Given the description of an element on the screen output the (x, y) to click on. 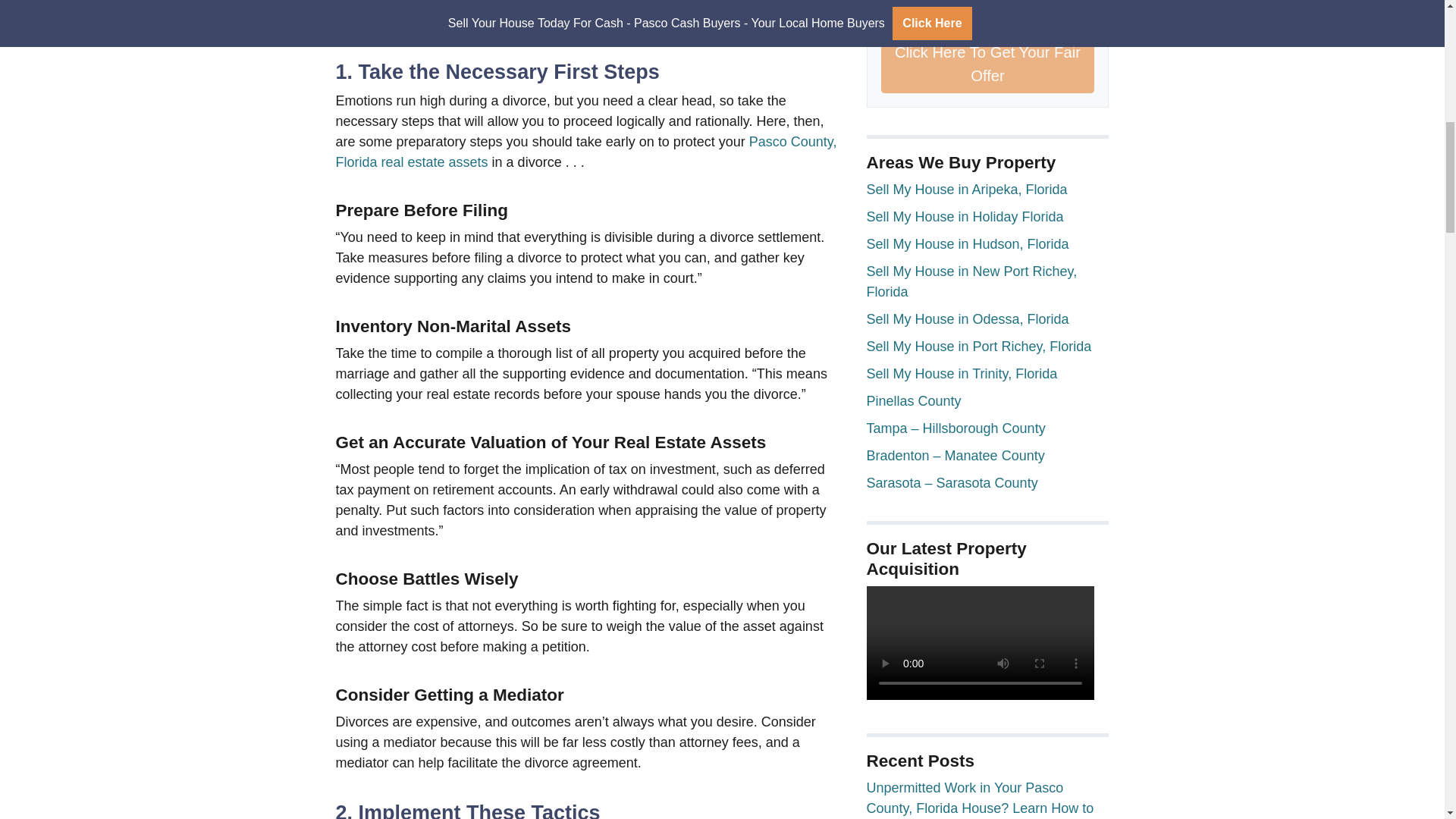
Sell My House in Aripeka, Florida (966, 189)
Pasco County, Florida real estate assets (584, 151)
Sell My House in Port Richey, Florida (978, 346)
Click Here To Get Your Fair Offer (987, 64)
Sell My House in Holiday Florida (964, 216)
Click Here To Get Your Fair Offer (987, 64)
Pinellas County (913, 400)
sale of the home (680, 21)
Sell My House in Hudson, Florida (967, 243)
Sell My House in Odessa, Florida (967, 319)
Sell My House in New Port Richey, Florida (971, 281)
Sell My House in Trinity, Florida (961, 373)
